Given the description of an element on the screen output the (x, y) to click on. 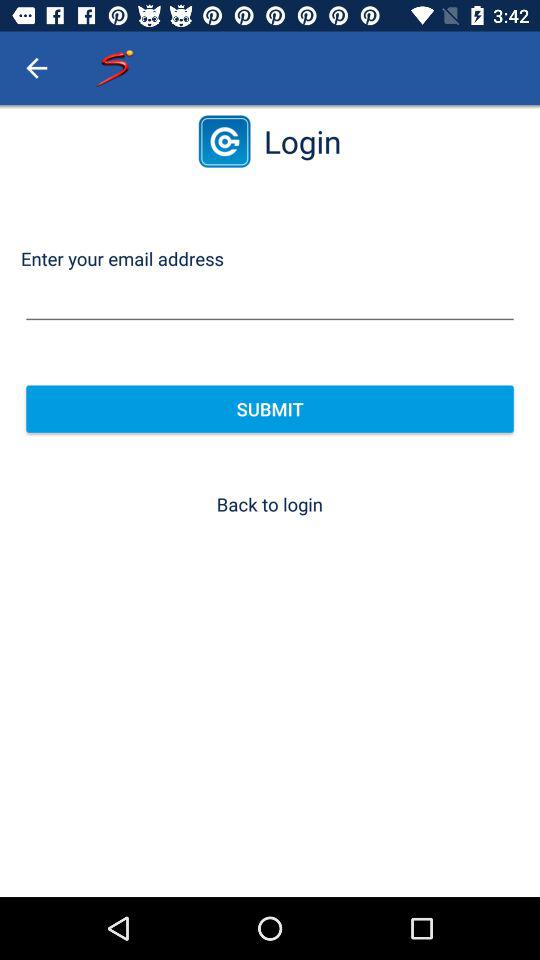
select email address field (270, 300)
